Given the description of an element on the screen output the (x, y) to click on. 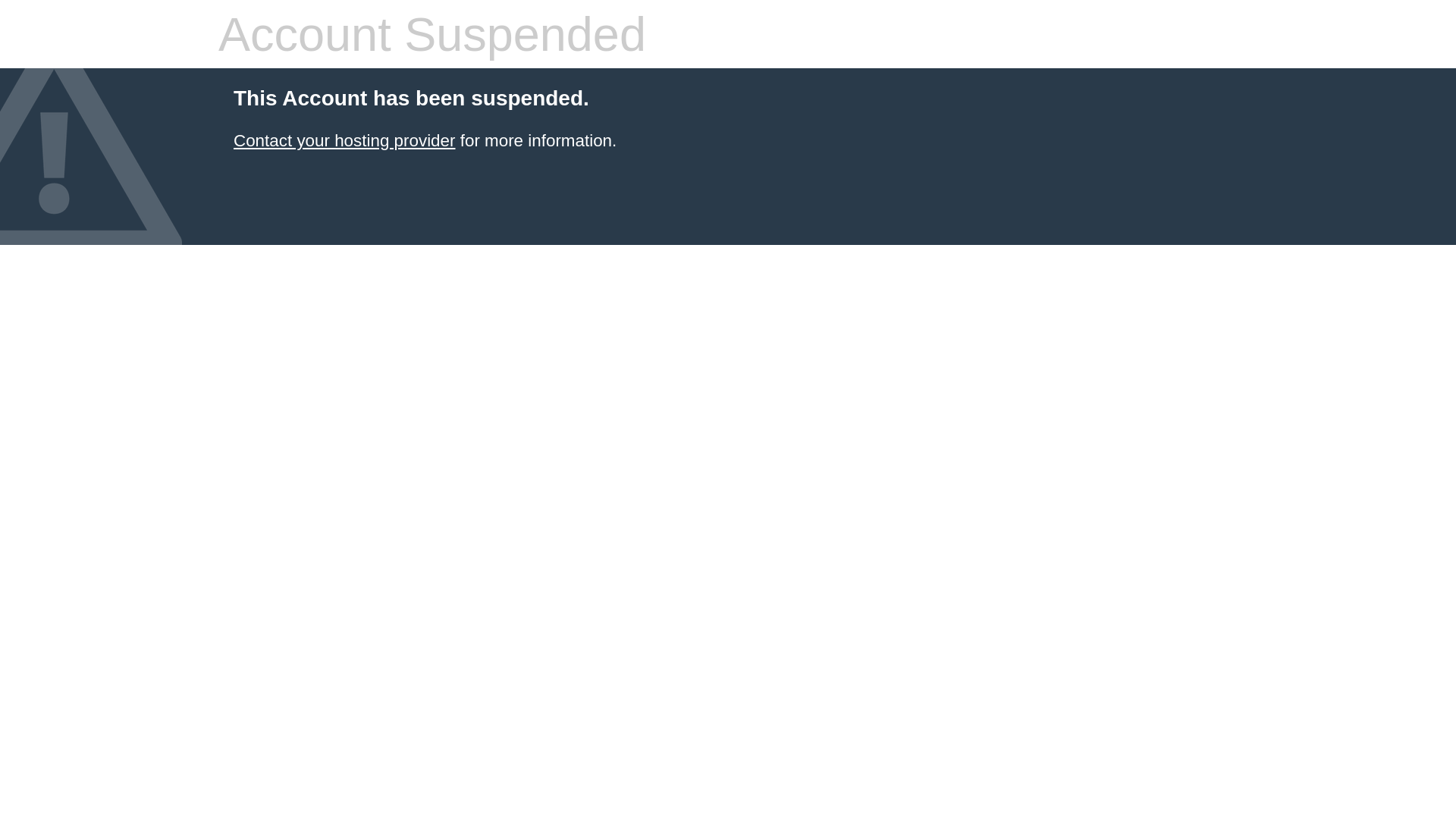
Contact your hosting provider Element type: text (344, 140)
